Given the description of an element on the screen output the (x, y) to click on. 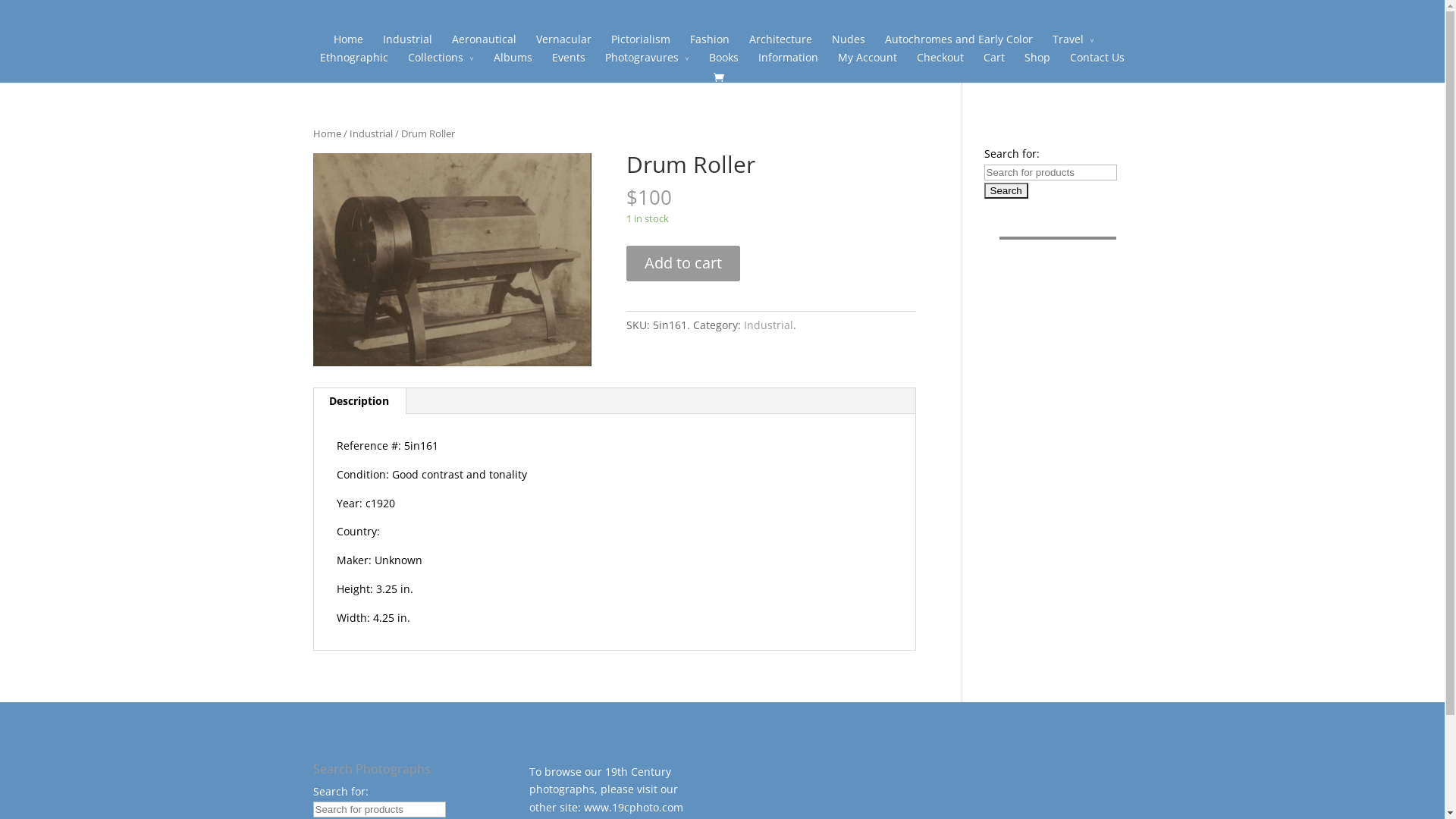
5in161 Element type: hover (451, 259)
Industrial Element type: text (370, 133)
Aeronautical Element type: text (483, 44)
Ethnographic Element type: text (354, 62)
Albums Element type: text (512, 62)
Nudes Element type: text (848, 44)
Cart Element type: text (993, 62)
Shop Element type: text (1037, 62)
Events Element type: text (568, 62)
Pictorialism Element type: text (640, 44)
Architecture Element type: text (780, 44)
My Account Element type: text (867, 62)
Travel Element type: text (1073, 44)
Books Element type: text (723, 62)
Contact Us Element type: text (1097, 62)
Description Element type: text (358, 401)
Checkout Element type: text (939, 62)
Fashion Element type: text (709, 44)
Collections Element type: text (440, 62)
Add to cart Element type: text (683, 263)
Industrial Element type: text (407, 44)
Search Element type: text (1006, 190)
Home Element type: text (348, 44)
www.19cphoto.com Element type: text (633, 807)
Vernacular Element type: text (563, 44)
Home Element type: text (326, 133)
Photogravures Element type: text (647, 62)
Autochromes and Early Color Element type: text (958, 44)
Industrial Element type: text (768, 324)
Information Element type: text (788, 62)
